Given the description of an element on the screen output the (x, y) to click on. 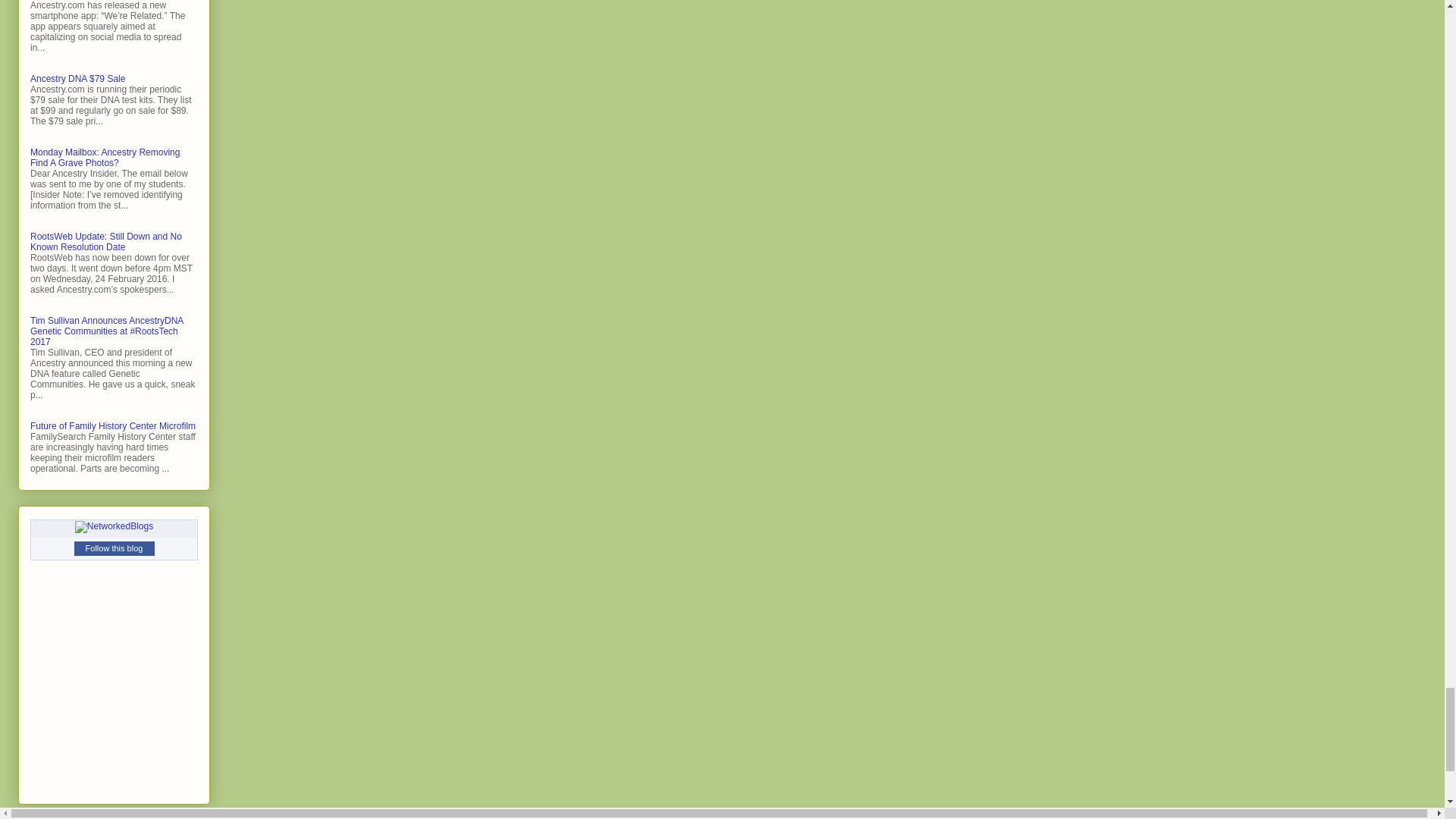
NetworkedBlogs (113, 526)
NetworkedBlogs (113, 525)
